Given the description of an element on the screen output the (x, y) to click on. 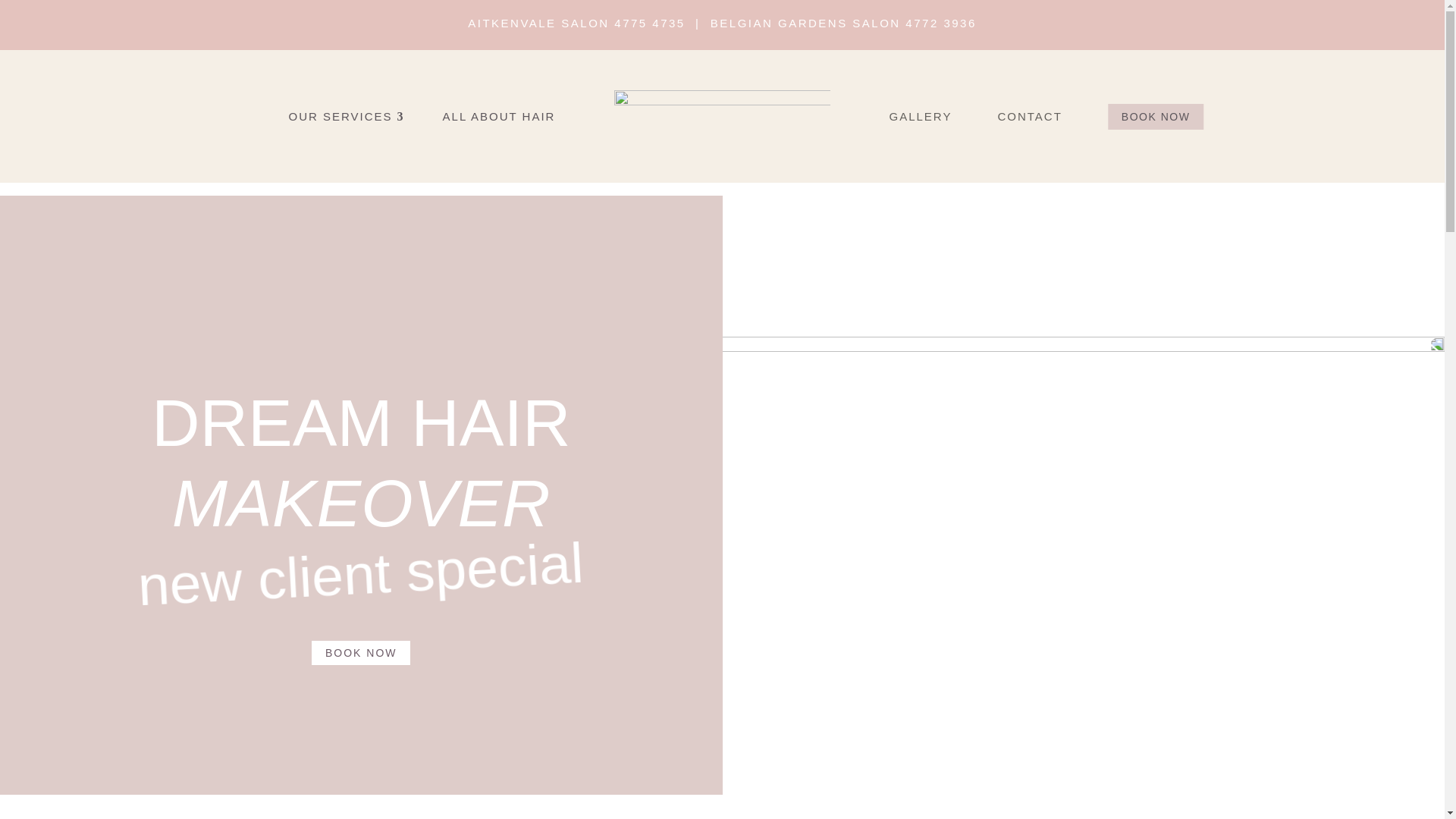
BOOK NOW Element type: text (360, 652)
GALLERY Element type: text (942, 116)
BELGIAN GARDENS SALON 4772 3936 Element type: text (843, 22)
BOOK NOW Element type: text (1155, 115)
CONTACT Element type: text (1052, 116)
AITKENVALE SALON 4775 4735 Element type: text (576, 22)
Emphasis Hair Studio_Inline Logo_Full Colour Element type: hover (722, 116)
OUR SERVICES Element type: text (327, 116)
ALL ABOUT HAIR Element type: text (479, 116)
